Given the description of an element on the screen output the (x, y) to click on. 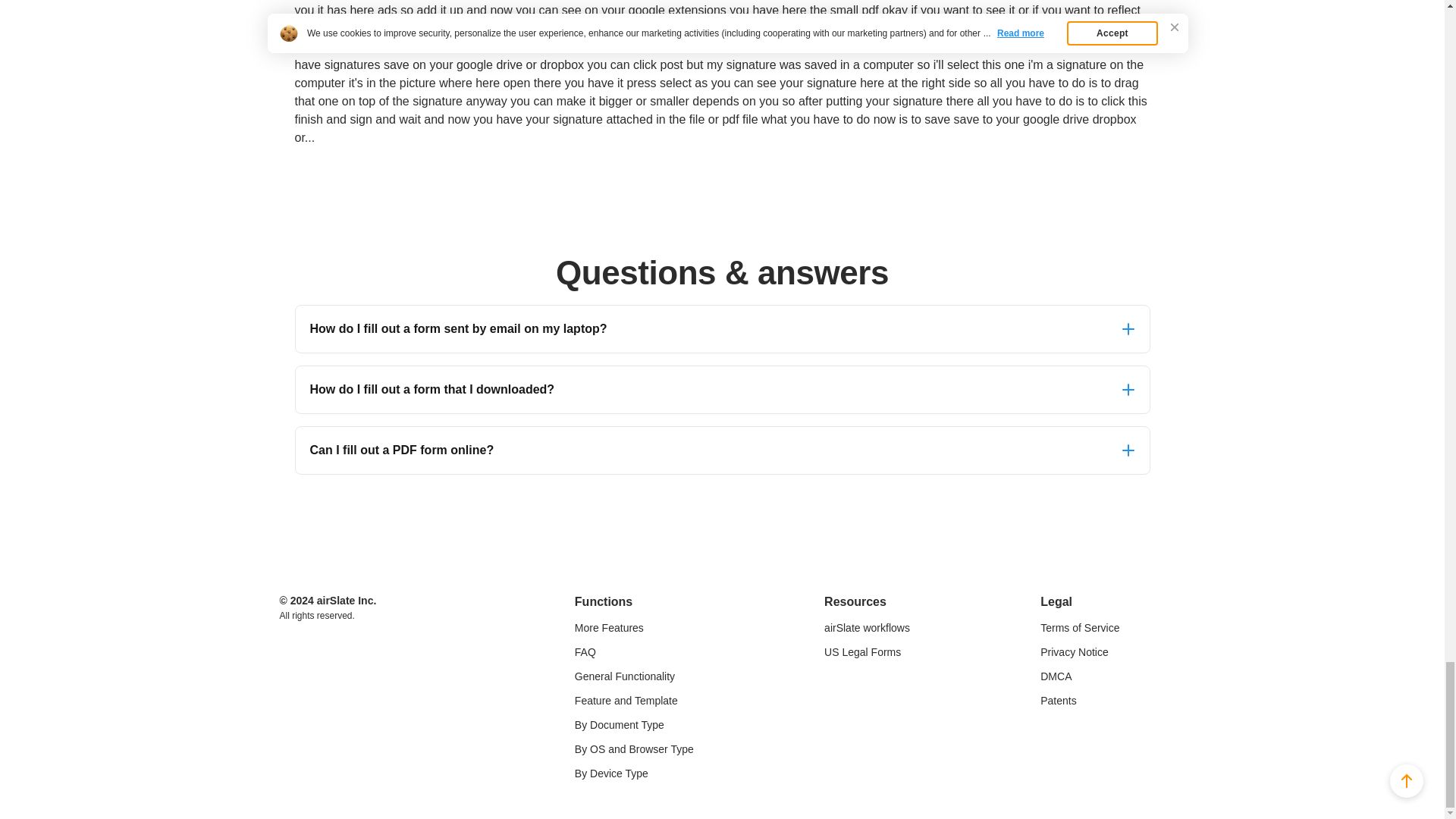
More Features (634, 626)
Patents (1080, 699)
By OS and Browser Type (634, 748)
By Document Type (634, 724)
By Device Type (634, 772)
FAQ (634, 651)
General Functionality (634, 675)
Terms of Service (1080, 626)
US Legal Forms (867, 651)
Privacy Notice (1080, 651)
Feature and Template (634, 699)
airSlate workflows (867, 626)
DMCA (1080, 675)
